Given the description of an element on the screen output the (x, y) to click on. 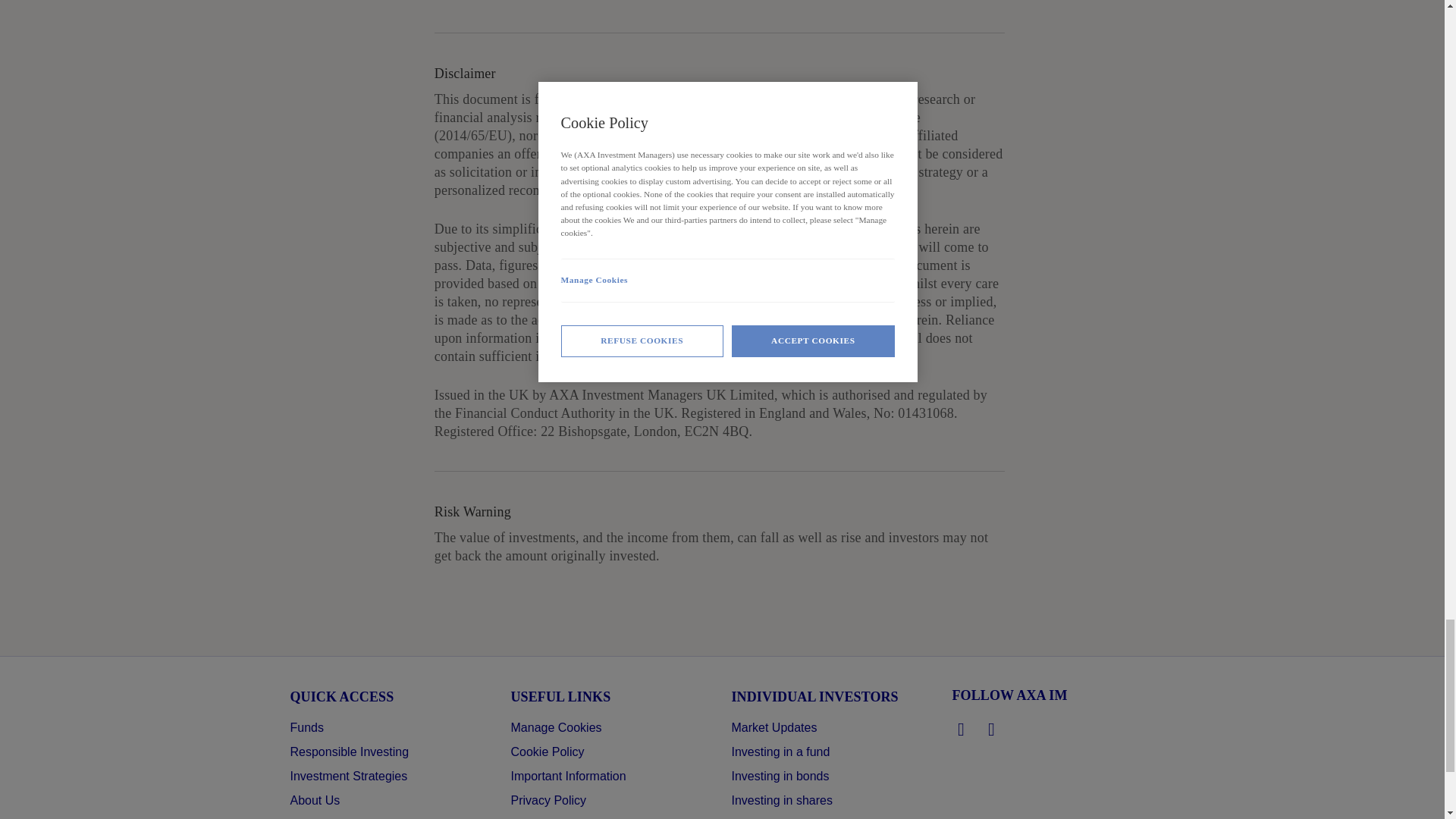
Follow us on Youtube (991, 729)
Follow us on LinkedIn (961, 729)
